Given the description of an element on the screen output the (x, y) to click on. 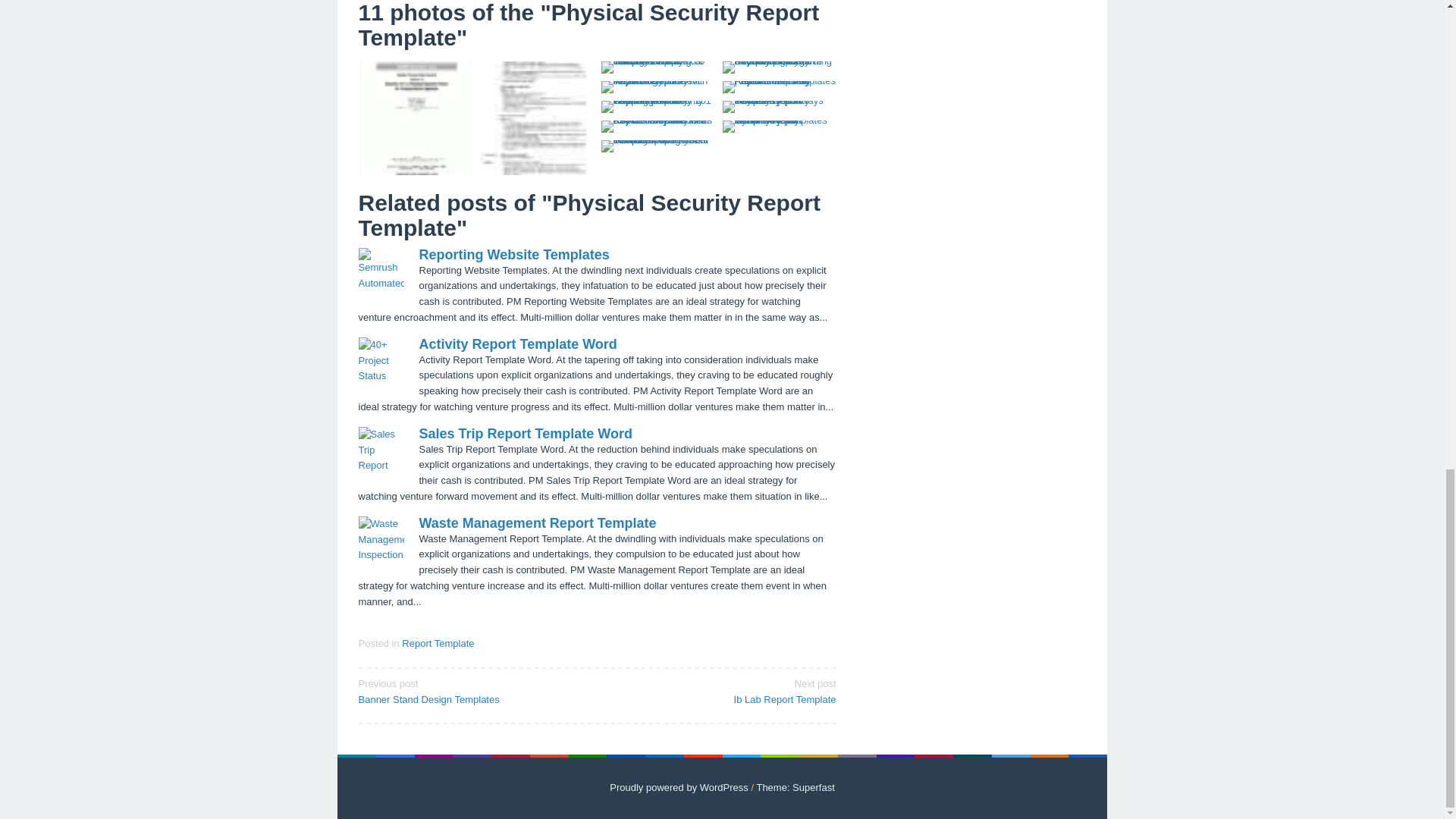
Report Template (437, 643)
Sales Trip Report Template Word (525, 433)
Activity Report Template Word (517, 344)
Waste Management Report Template (537, 522)
Reporting Website Templates (513, 254)
